Given the description of an element on the screen output the (x, y) to click on. 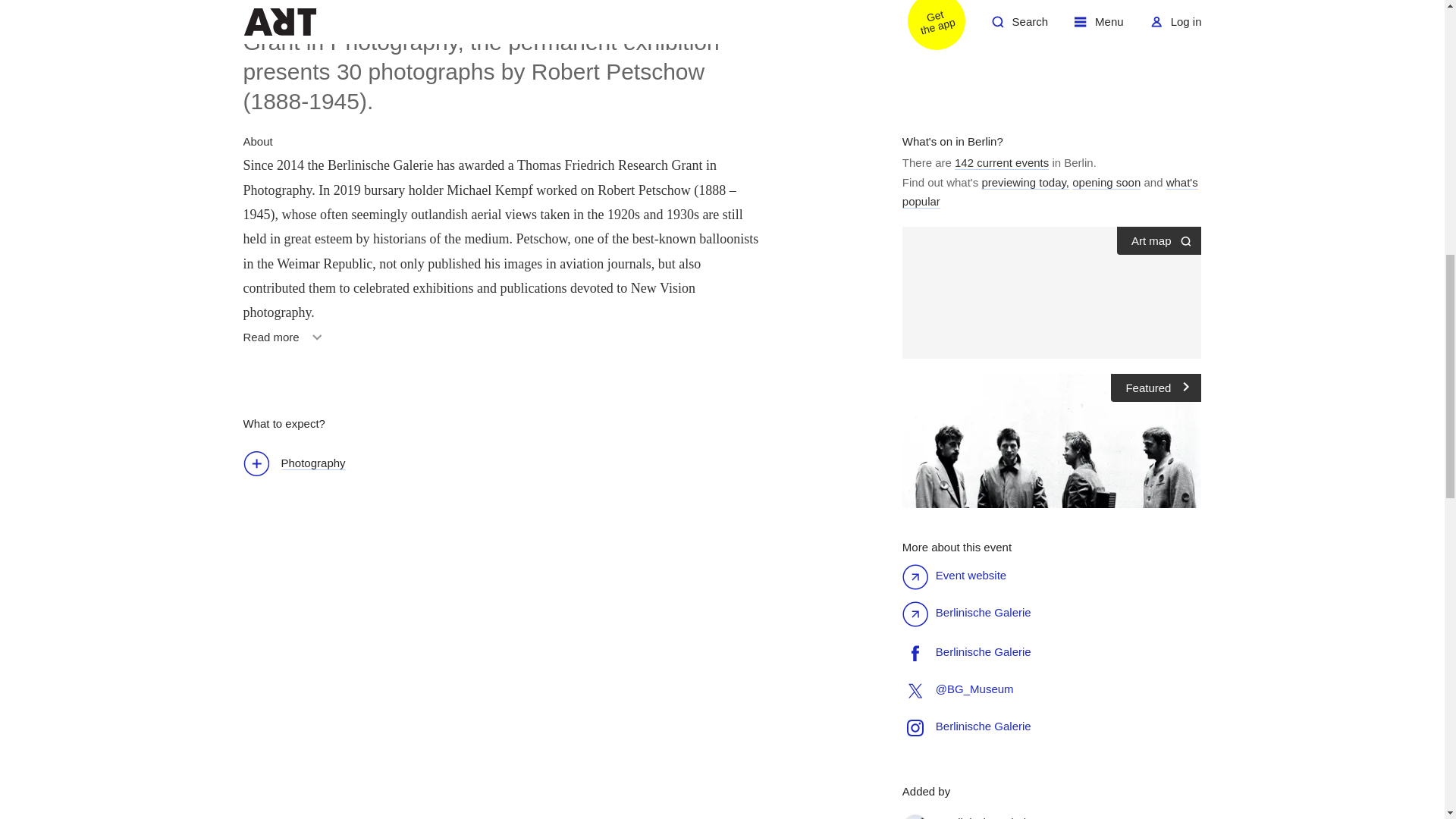
What's on in Berlin? (286, 342)
142 current events (952, 141)
Photography (1001, 162)
